Given the description of an element on the screen output the (x, y) to click on. 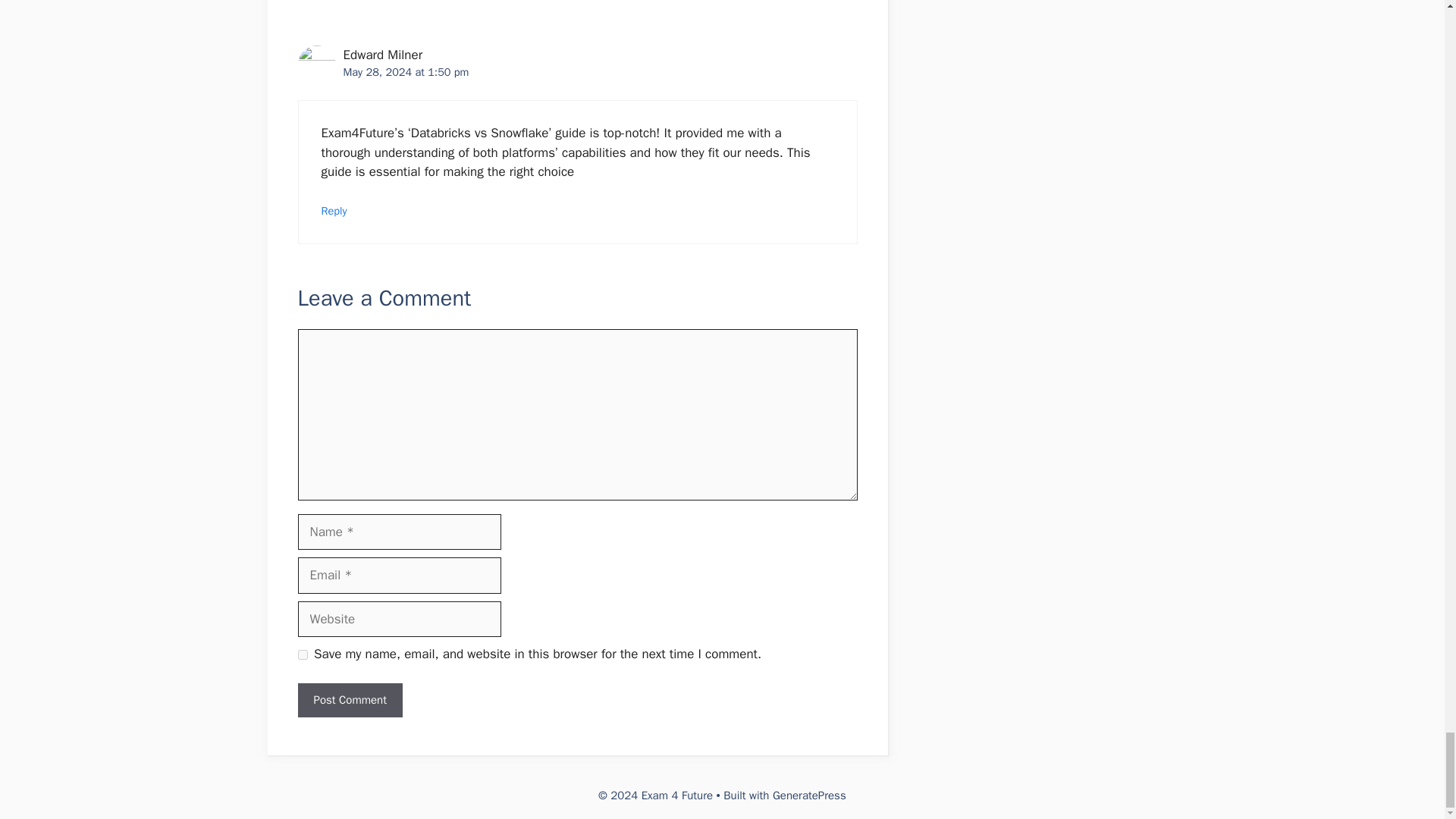
Post Comment (349, 700)
May 28, 2024 at 1:50 pm (405, 71)
yes (302, 655)
Reply (334, 210)
Post Comment (349, 700)
